Given the description of an element on the screen output the (x, y) to click on. 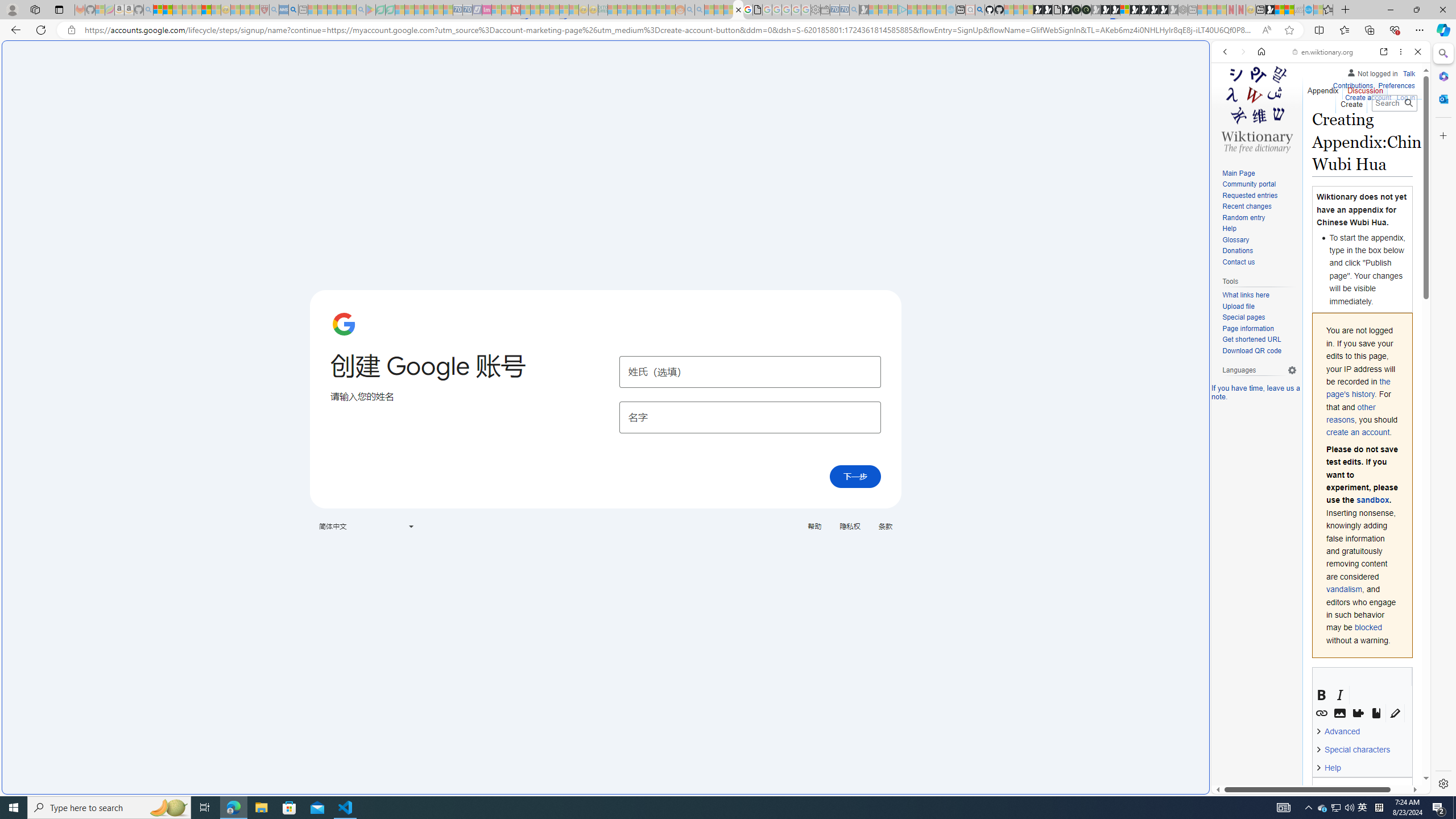
Glossary (1235, 239)
Donations (1237, 250)
Random entry (1259, 218)
Link (1321, 713)
